Given the description of an element on the screen output the (x, y) to click on. 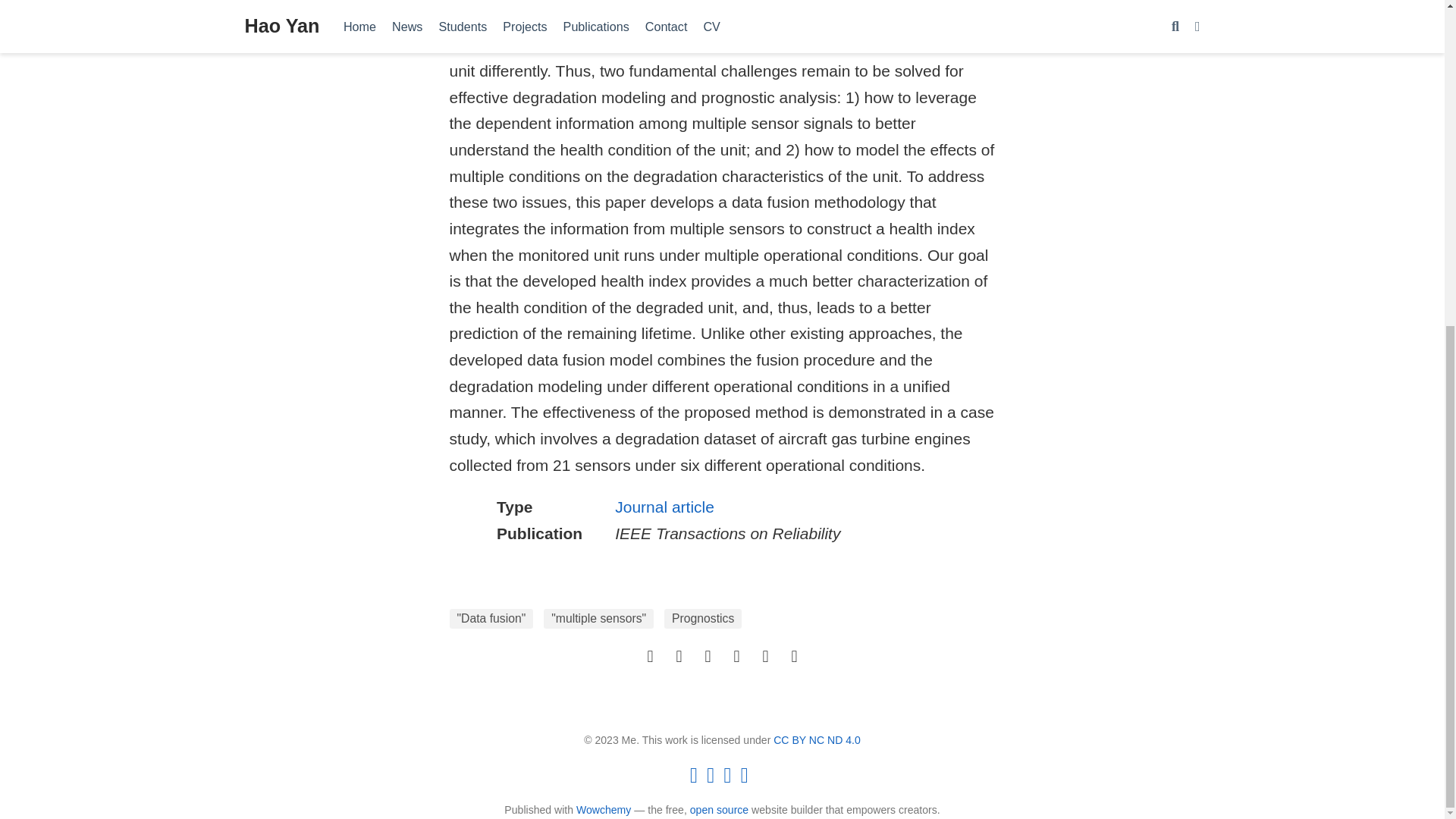
Prognostics (702, 618)
CC BY NC ND 4.0 (816, 739)
Wowchemy (603, 809)
open source (719, 809)
"multiple sensors" (598, 618)
"Data fusion" (490, 618)
Journal article (664, 506)
